Given the description of an element on the screen output the (x, y) to click on. 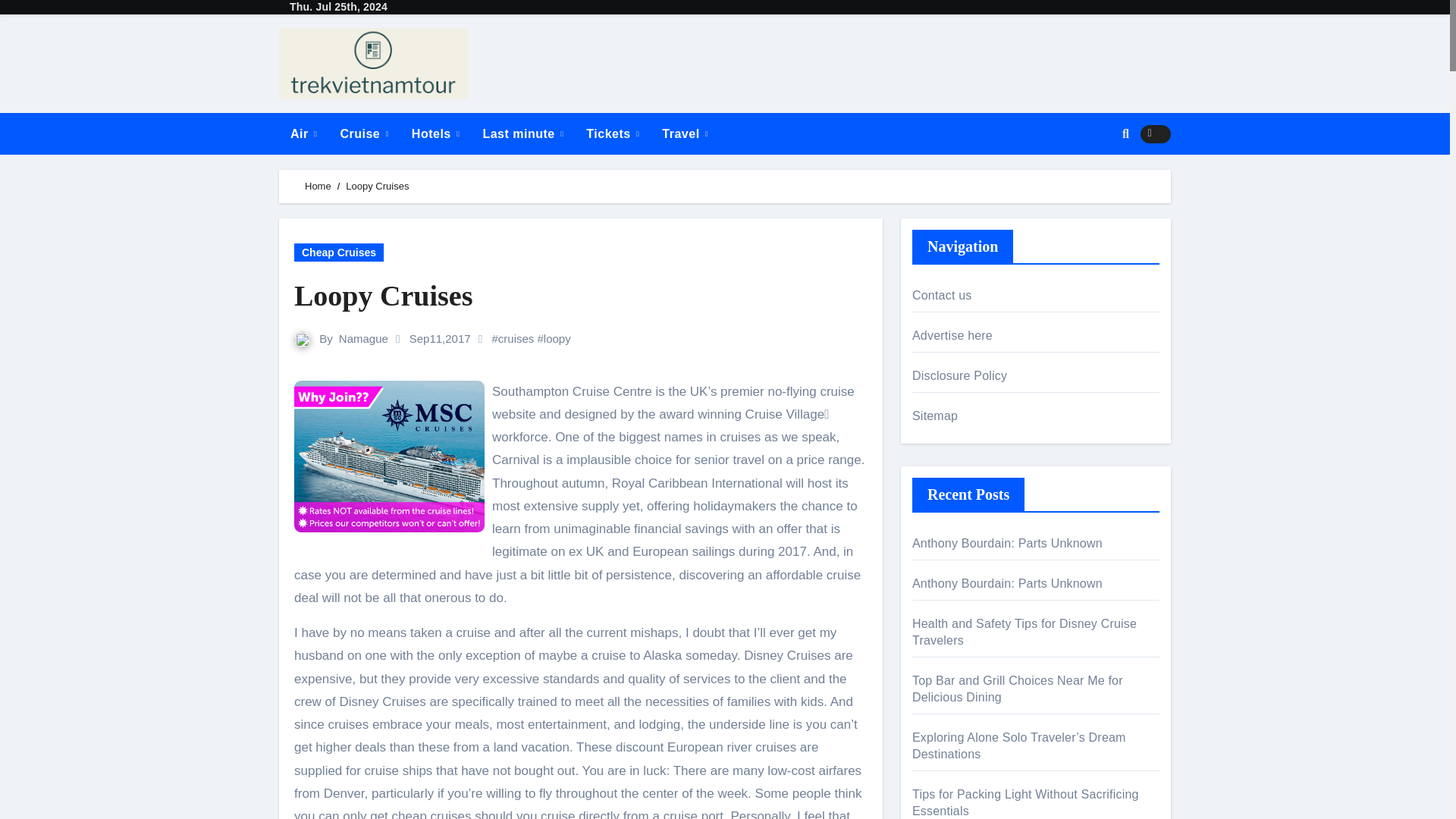
Last minute (522, 133)
Hotels (435, 133)
Air (304, 133)
Tickets (612, 133)
Air (304, 133)
Hotels (435, 133)
Travel (684, 133)
Cruise (363, 133)
Cruise (363, 133)
